Given the description of an element on the screen output the (x, y) to click on. 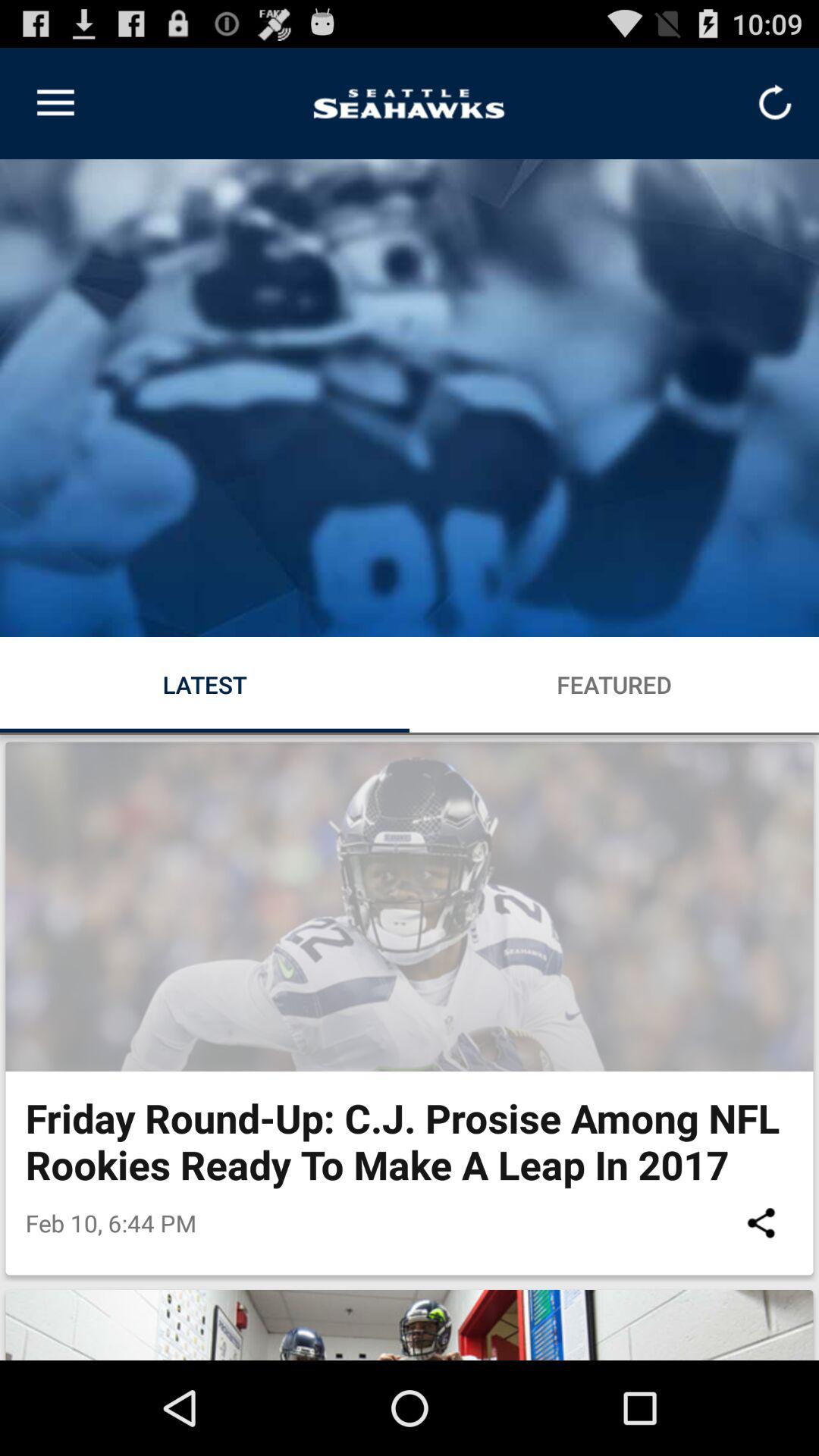
turn off the icon next to feb 10 6 (761, 1222)
